Given the description of an element on the screen output the (x, y) to click on. 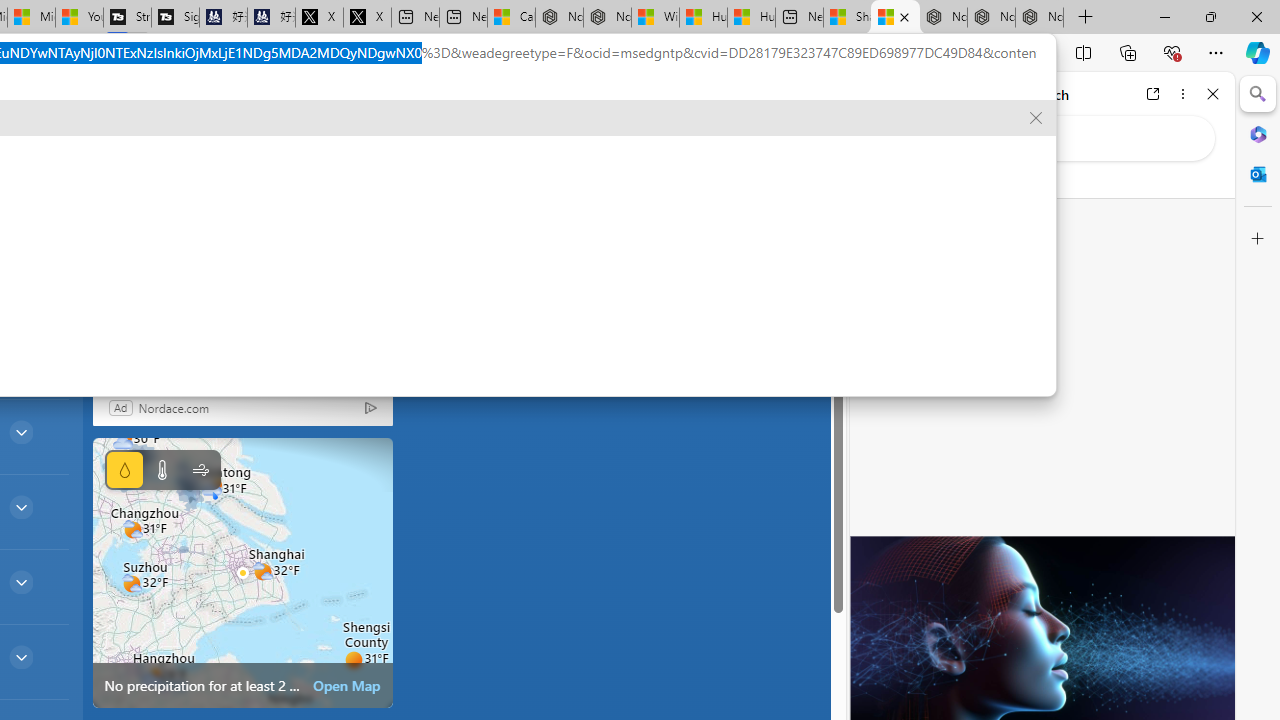
Precipitation (124, 470)
Nordace Siena Pro 15 Backpack (991, 17)
Ad Choice (370, 407)
common/thinArrow (20, 656)
Forward (906, 93)
locationBar/triangle (387, 214)
common/carouselChevron (323, 214)
Huge shark washes ashore at New York City beach | Watch (751, 17)
Streaming Coverage | T3 (127, 17)
